Given the description of an element on the screen output the (x, y) to click on. 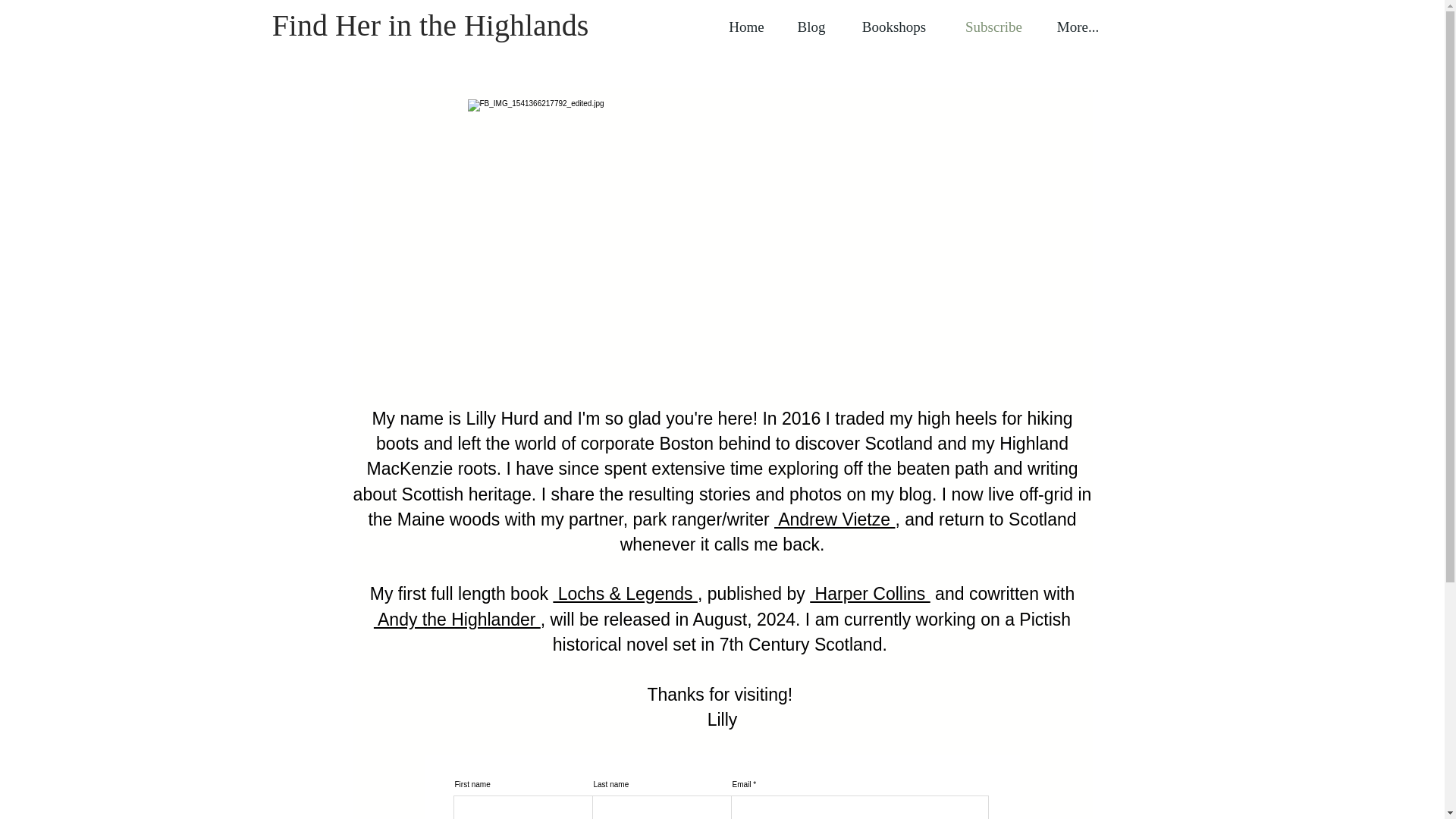
Subscribe (993, 26)
Blog (810, 26)
 Andrew Vietze  (834, 519)
Bookshops (893, 26)
Home (746, 26)
 Harper Collins  (869, 593)
 Andy the Highlander  (457, 619)
